Given the description of an element on the screen output the (x, y) to click on. 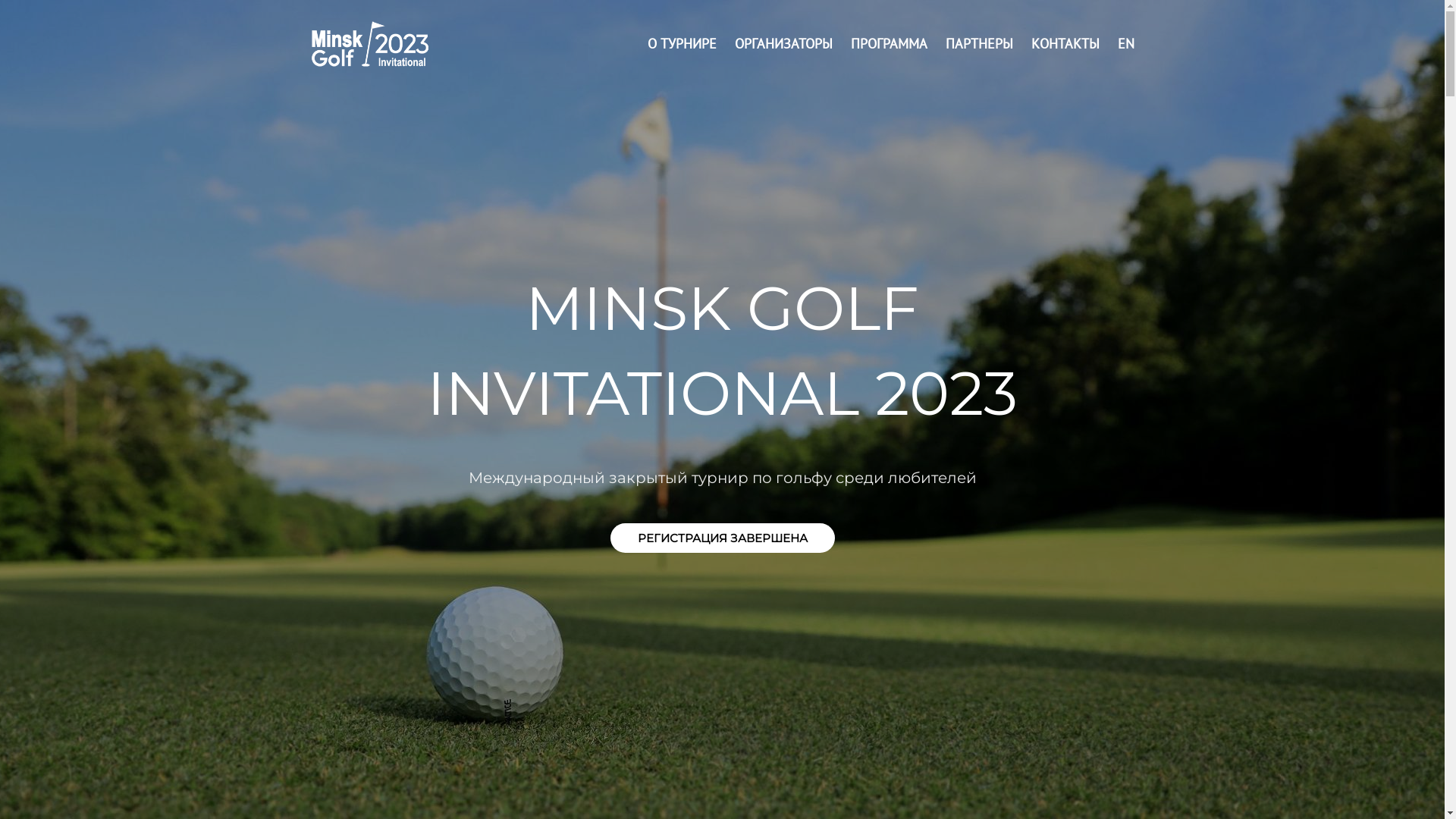
EN Element type: text (1125, 44)
